Given the description of an element on the screen output the (x, y) to click on. 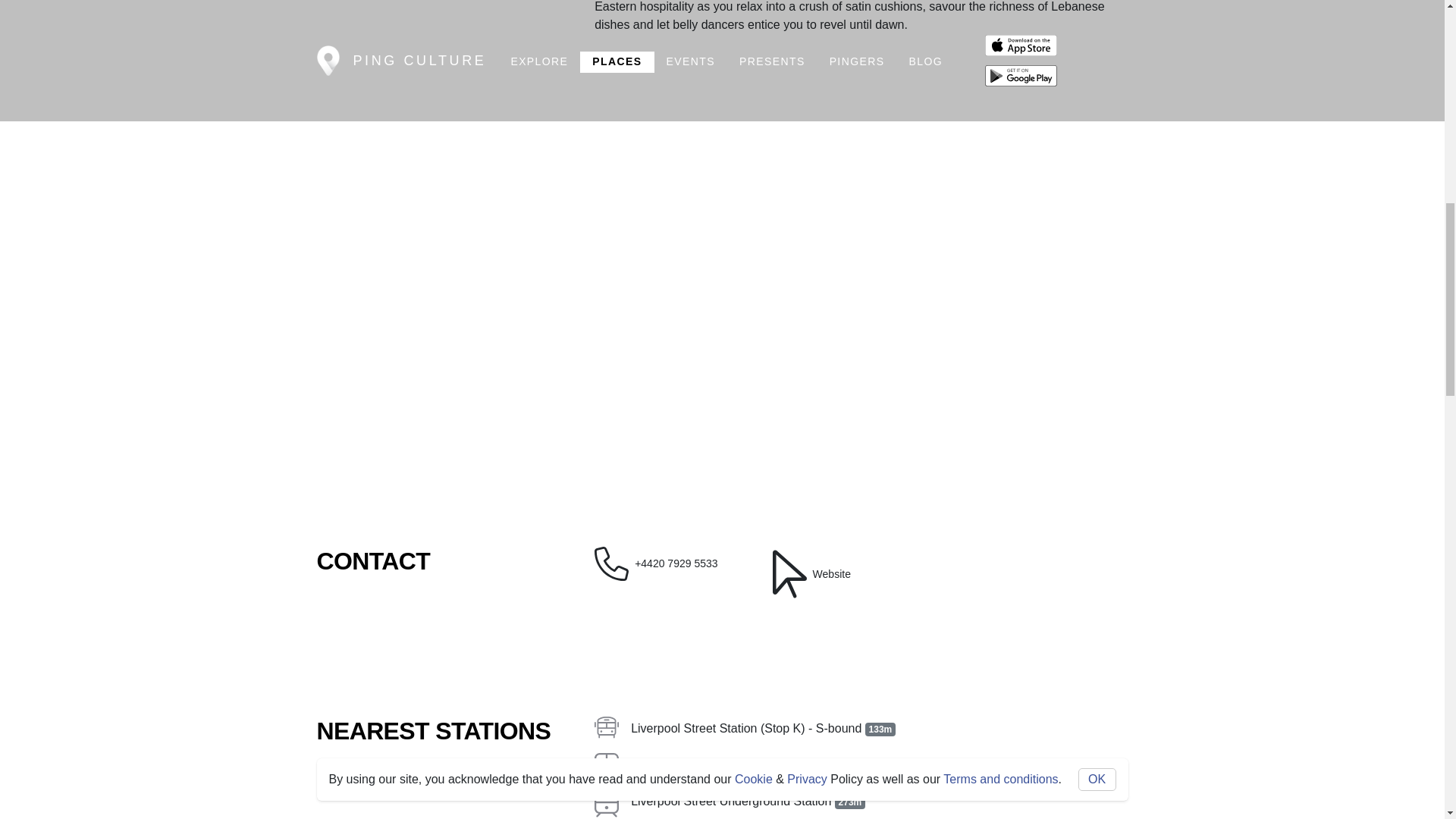
Website (850, 574)
London Liverpool Street 227m (860, 764)
Liverpool Street Underground Station 273m (860, 801)
